Given the description of an element on the screen output the (x, y) to click on. 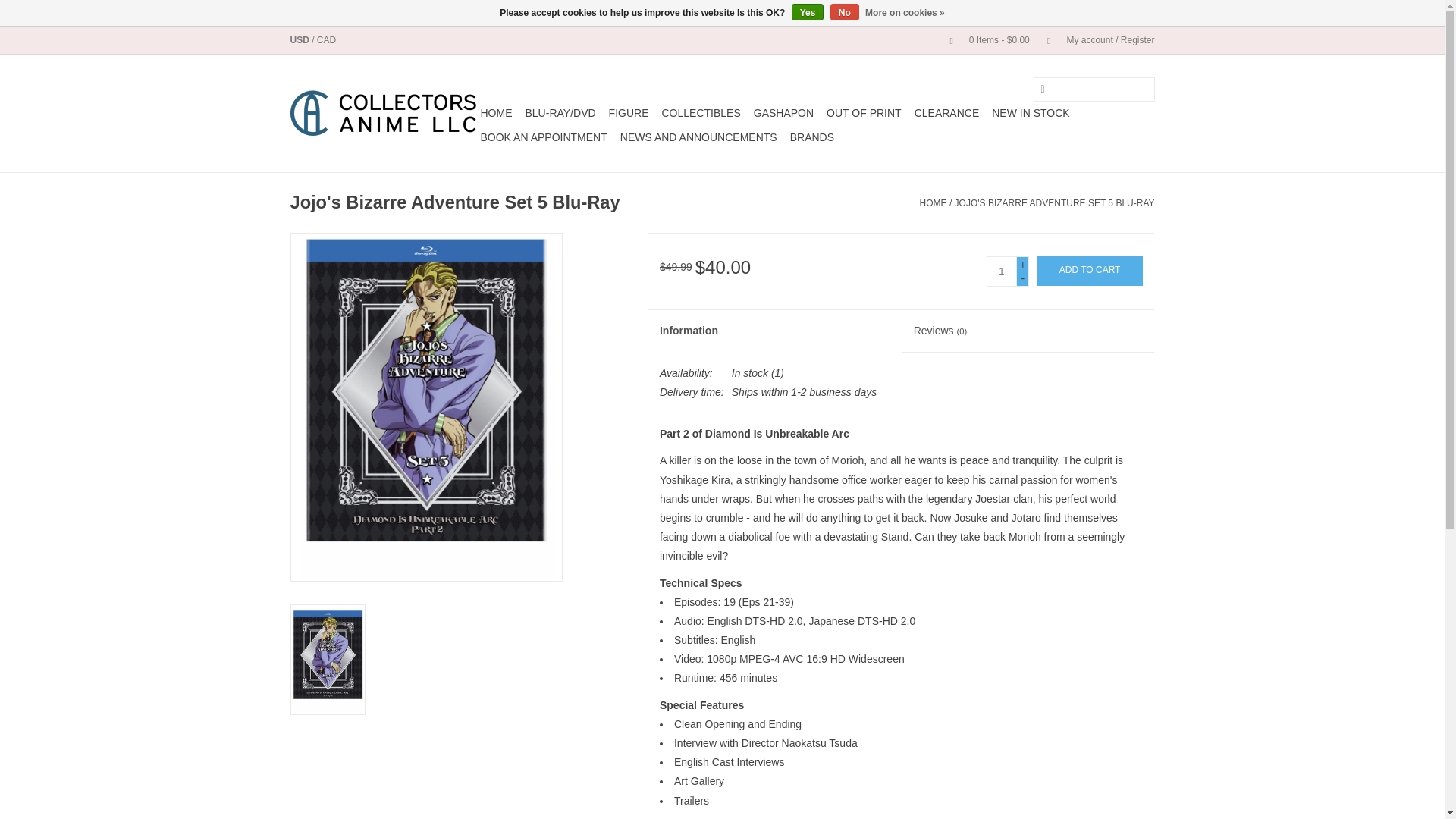
CAD (326, 40)
HOME (496, 112)
OUT OF PRINT (863, 112)
Collectors Anime LLC (382, 113)
FIGURE (628, 112)
NEWS AND ANNOUNCEMENTS (698, 137)
BRANDS (812, 137)
My account (1093, 40)
COLLECTIBLES (700, 112)
GASHAPON (783, 112)
